Given the description of an element on the screen output the (x, y) to click on. 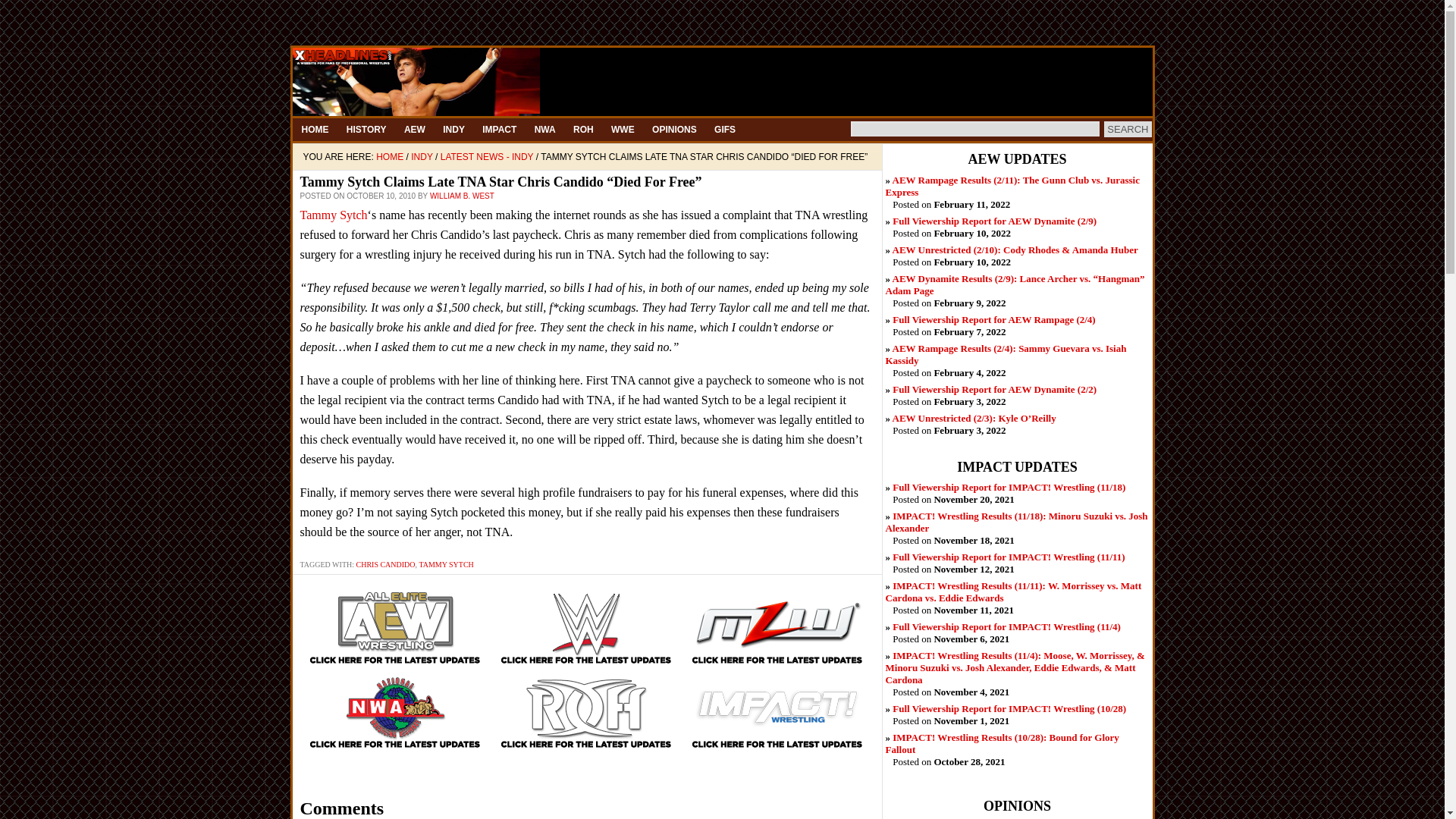
February 10, 2022 (1015, 249)
HOME (314, 128)
October 28, 2021 (1002, 743)
November 20, 2021 (1008, 487)
IMPACT (499, 128)
November 18, 2021 (1016, 521)
February 3, 2022 (974, 418)
February 3, 2022 (994, 389)
AEW (413, 128)
February 10, 2022 (994, 220)
NWA (544, 128)
Search (1127, 129)
February 9, 2022 (1014, 284)
OPINIONS (674, 128)
November 11, 2021 (1013, 591)
